Given the description of an element on the screen output the (x, y) to click on. 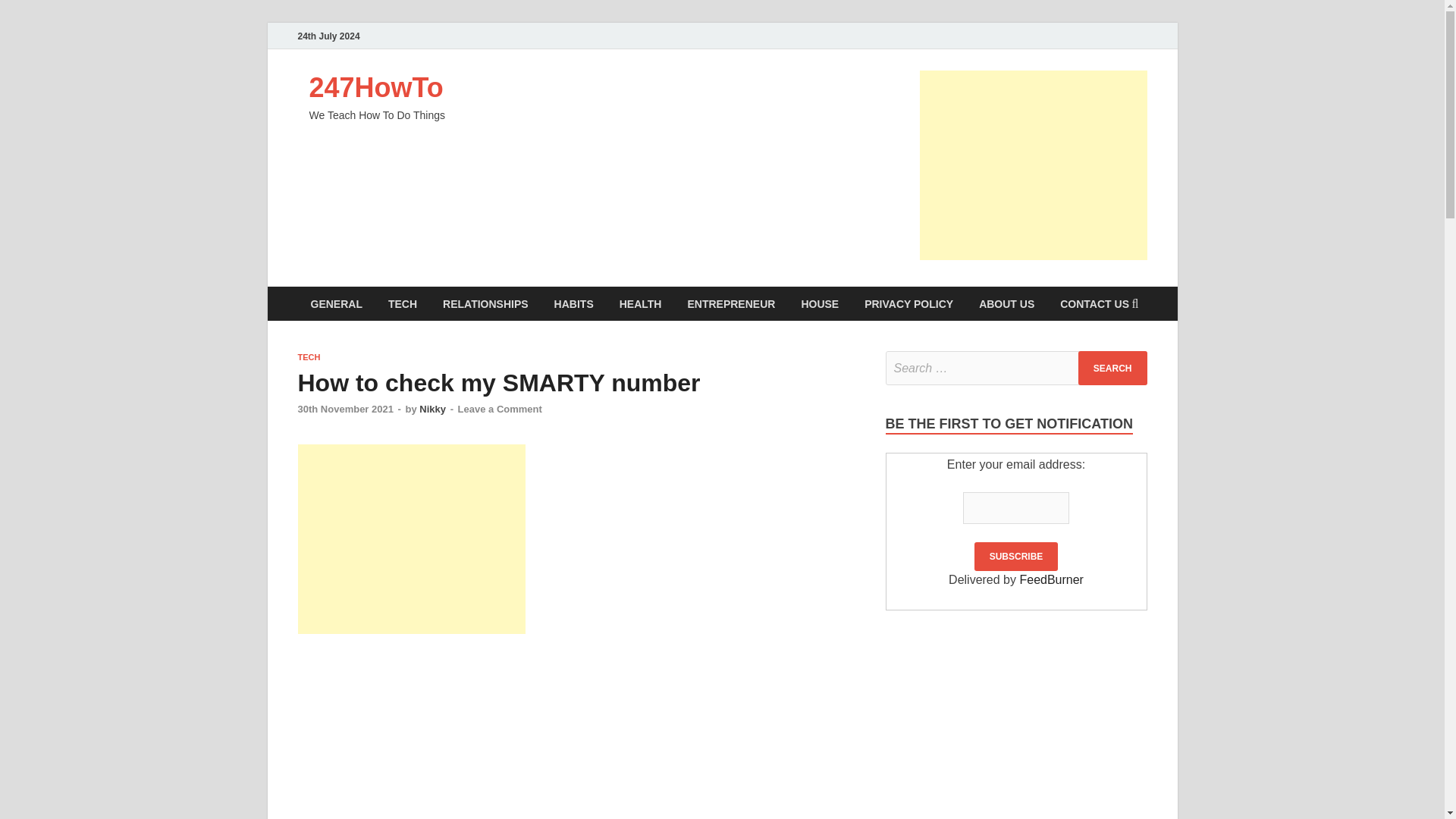
TECH (308, 356)
ABOUT US (1006, 303)
PRIVACY POLICY (908, 303)
Search (1112, 367)
HOUSE (819, 303)
Search (1112, 367)
ENTREPRENEUR (730, 303)
Subscribe (1016, 556)
Leave a Comment (499, 408)
CONTACT US (1093, 303)
HEALTH (641, 303)
247HowTo (376, 87)
Nikky (432, 408)
HABITS (574, 303)
RELATIONSHIPS (485, 303)
